Given the description of an element on the screen output the (x, y) to click on. 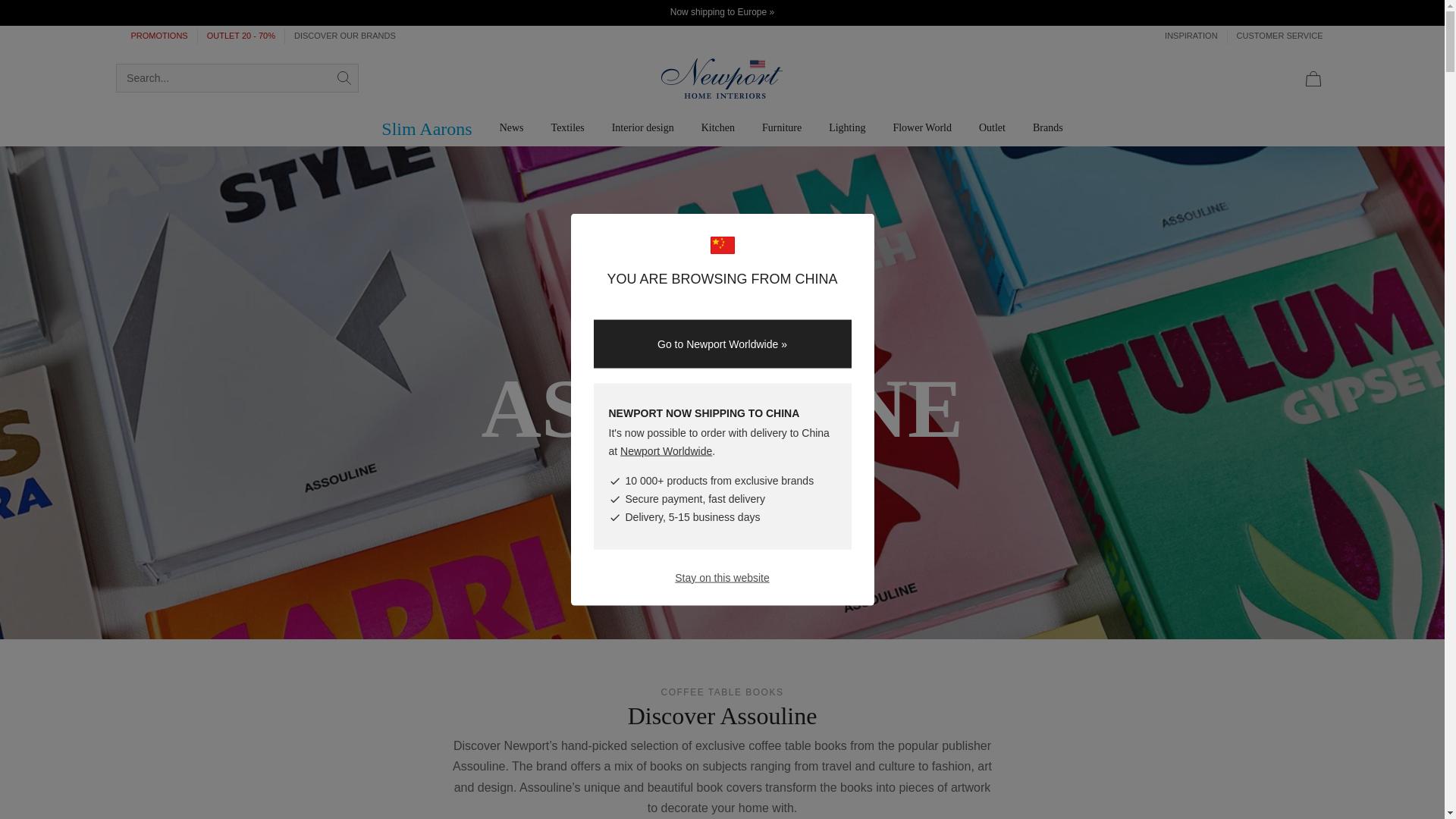
Interior design (642, 127)
Flower World (922, 127)
PROMOTIONS (158, 36)
News (511, 127)
Lighting (847, 127)
INSPIRATION (1191, 36)
Furniture (781, 127)
DISCOVER OUR BRANDS (340, 36)
Slim Aarons (426, 129)
Textiles (567, 127)
Brands (1048, 127)
Outlet (992, 127)
CUSTOMER SERVICE (1275, 36)
Kitchen (717, 127)
